Given the description of an element on the screen output the (x, y) to click on. 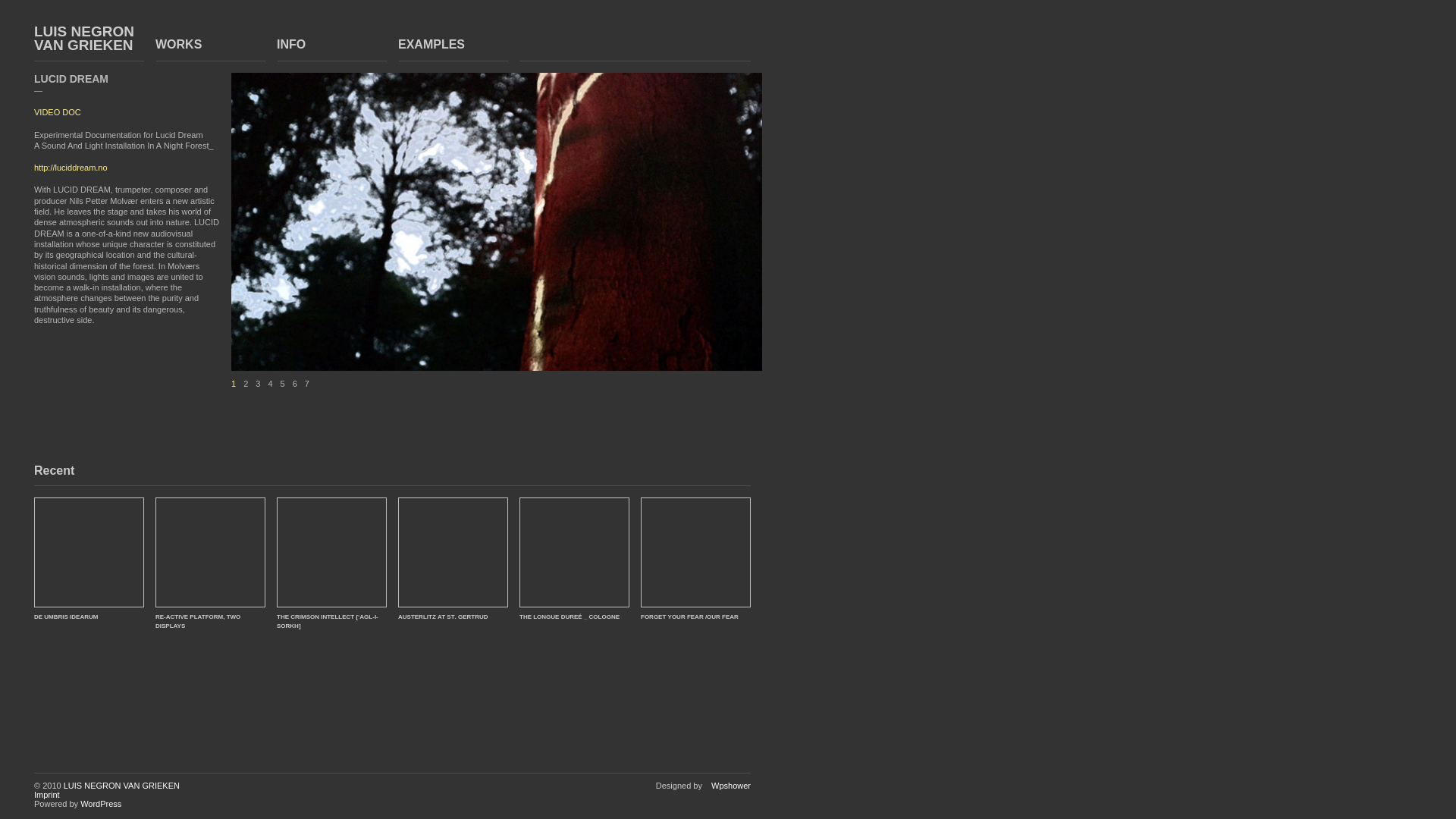
VIDEO DOC (57, 112)
DE UMBRIS IDEARUM (65, 614)
Imprint (46, 794)
EXAMPLES (452, 36)
WordPress (100, 803)
LUIS NEGRON VAN GRIEKEN (88, 38)
DE UMBRIS IDEARUM (88, 552)
Wpshower (727, 785)
Austerlitz at St. Gertrud (452, 552)
Austerlitz at St. Gertrud (442, 614)
RE-ACTIVE PLATFORM, TWO DISPLAYS (209, 552)
RE-ACTIVE PLATFORM, TWO DISPLAYS (197, 619)
INFO (331, 36)
WORKS (209, 36)
LUIS NEGRON VAN GRIEKEN (121, 785)
